Given the description of an element on the screen output the (x, y) to click on. 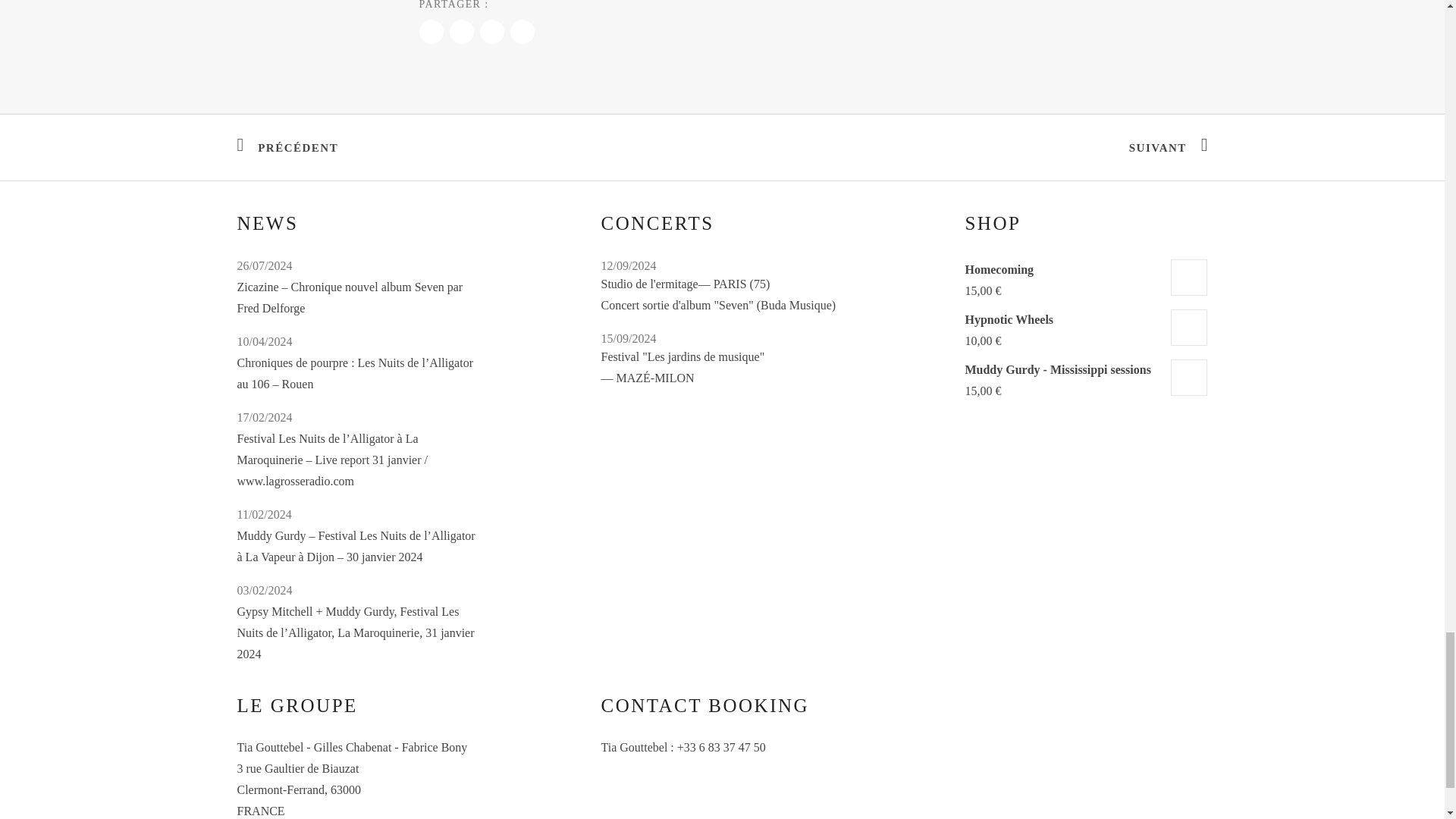
Cliquez pour partager sur Twitter (460, 31)
Cliquez pour partager sur Pinterest (521, 31)
Cliquez pour partager sur WhatsApp (491, 31)
Cliquez pour partager sur Facebook (430, 31)
